Given the description of an element on the screen output the (x, y) to click on. 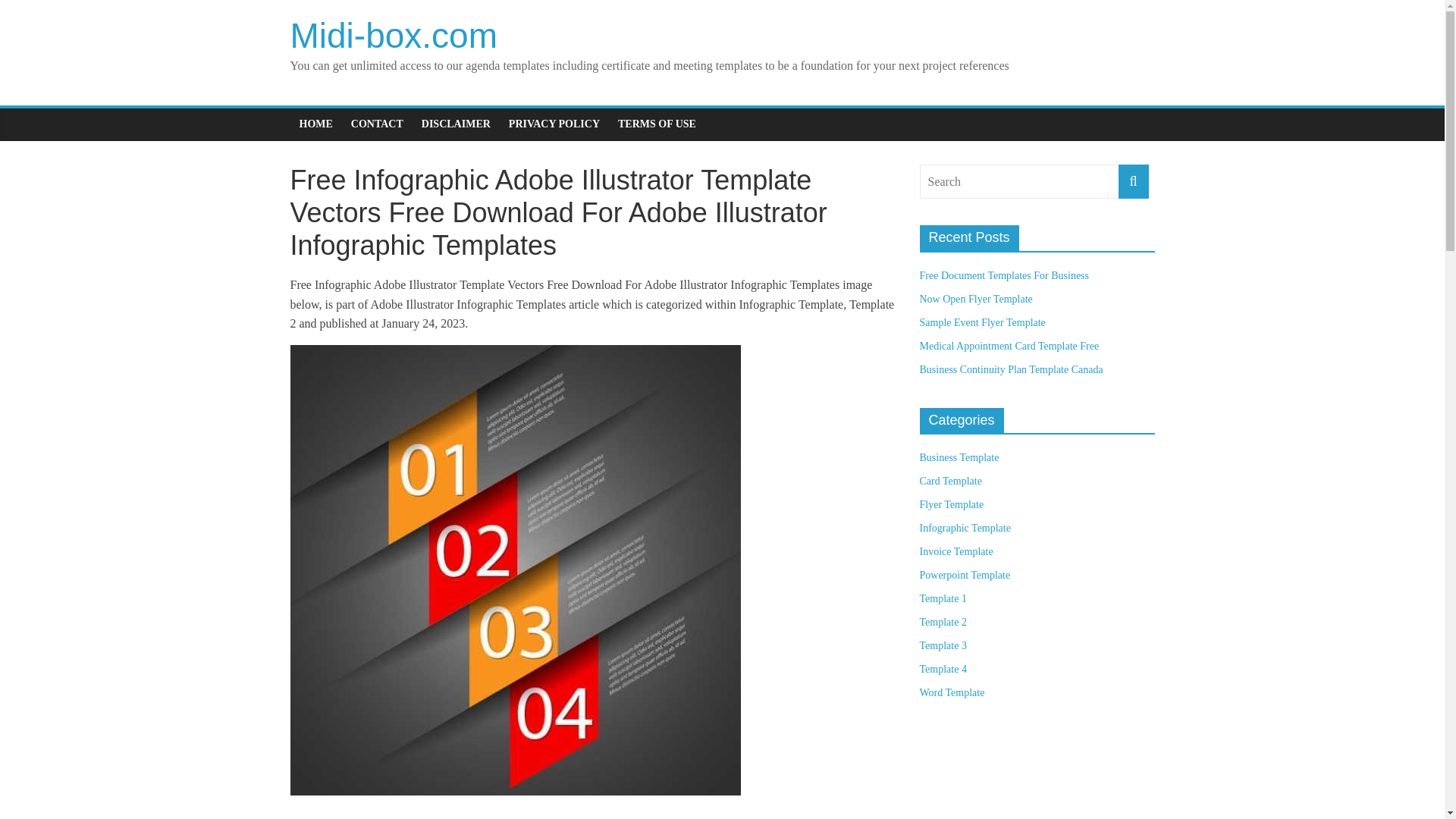
Business Continuity Plan Template Canada (1010, 369)
Card Template (949, 480)
Powerpoint Template (964, 574)
Medical Appointment Card Template Free (1008, 346)
Infographic Template (964, 527)
Invoice Template (955, 551)
TERMS OF USE (656, 124)
Midi-box.com (393, 35)
Flyer Template (951, 504)
HOME (314, 124)
Midi-box.com (393, 35)
Free Document Templates For Business (1003, 275)
Template 4 (942, 668)
Template 1 (942, 598)
Now Open Flyer Template (975, 298)
